Given the description of an element on the screen output the (x, y) to click on. 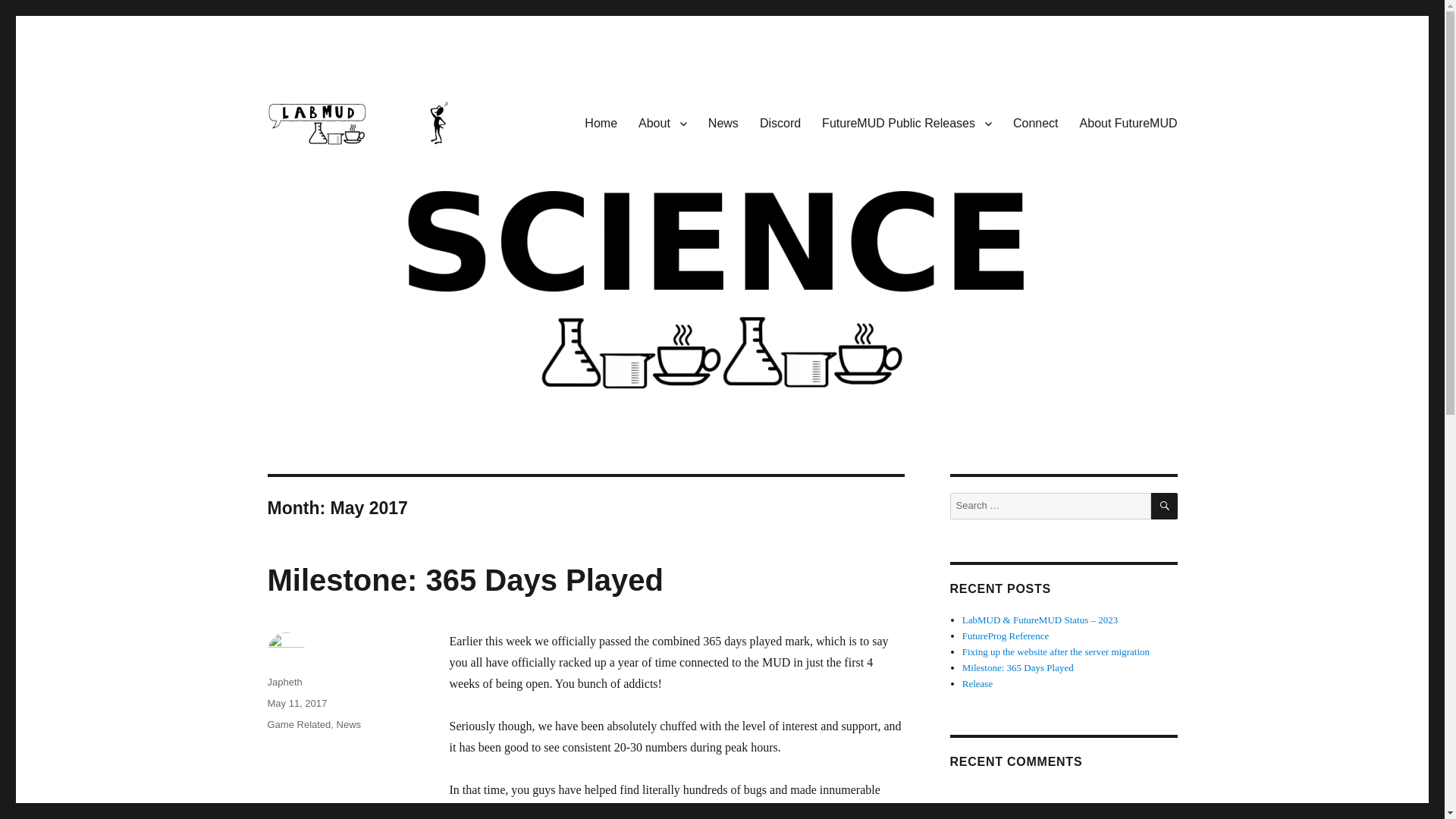
News (348, 724)
FutureProg Reference (1005, 635)
Discord (779, 123)
Connect (1035, 123)
May 11, 2017 (296, 703)
Release (977, 683)
FutureMUD Public Releases (906, 123)
Japheth (283, 681)
Fixing up the website after the server migration (1056, 651)
News (723, 123)
